Given the description of an element on the screen output the (x, y) to click on. 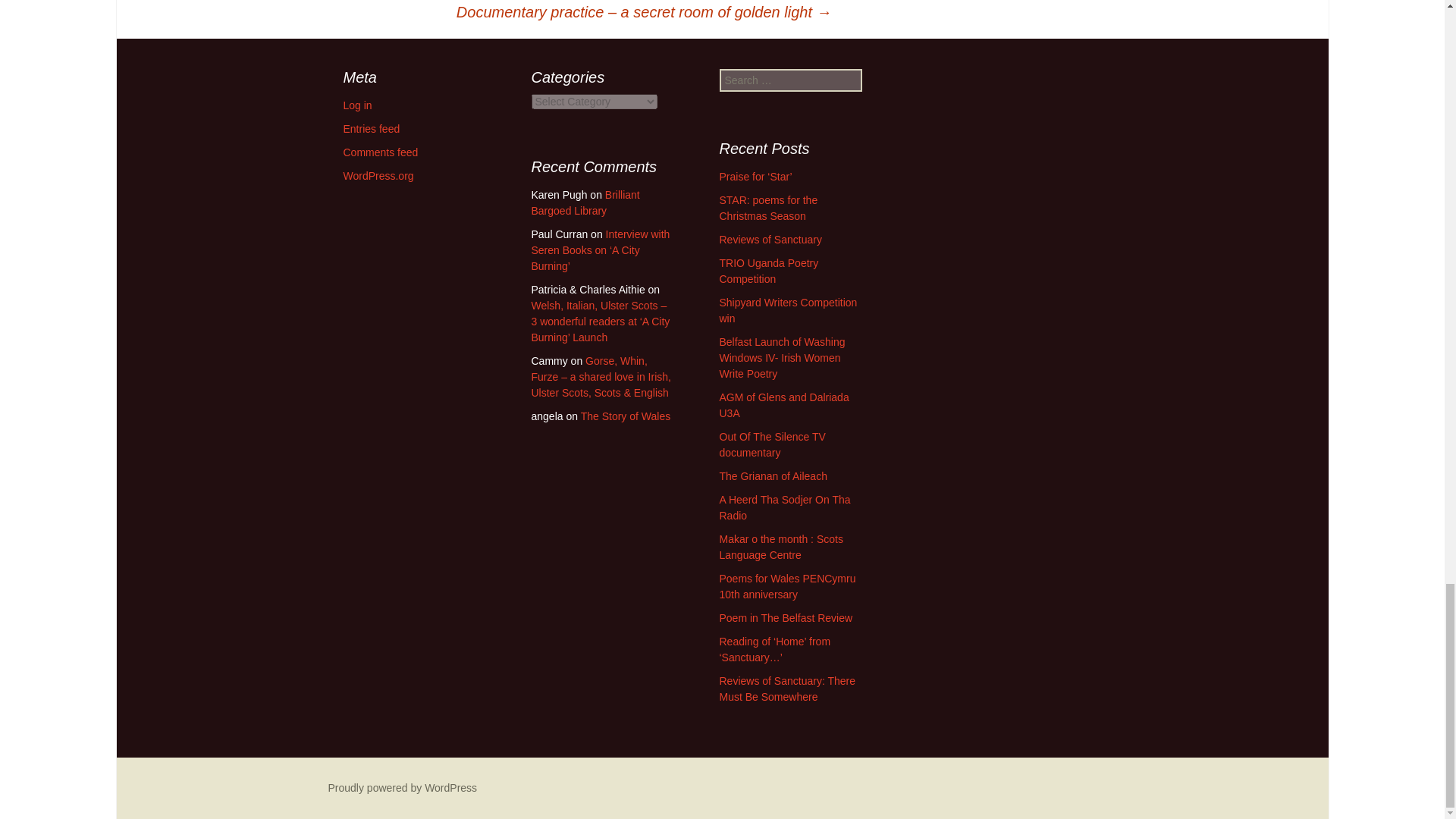
Entries feed (370, 128)
STAR: poems for the Christmas Season (767, 207)
Log in (356, 105)
WordPress.org (377, 175)
Comments feed (379, 152)
